Given the description of an element on the screen output the (x, y) to click on. 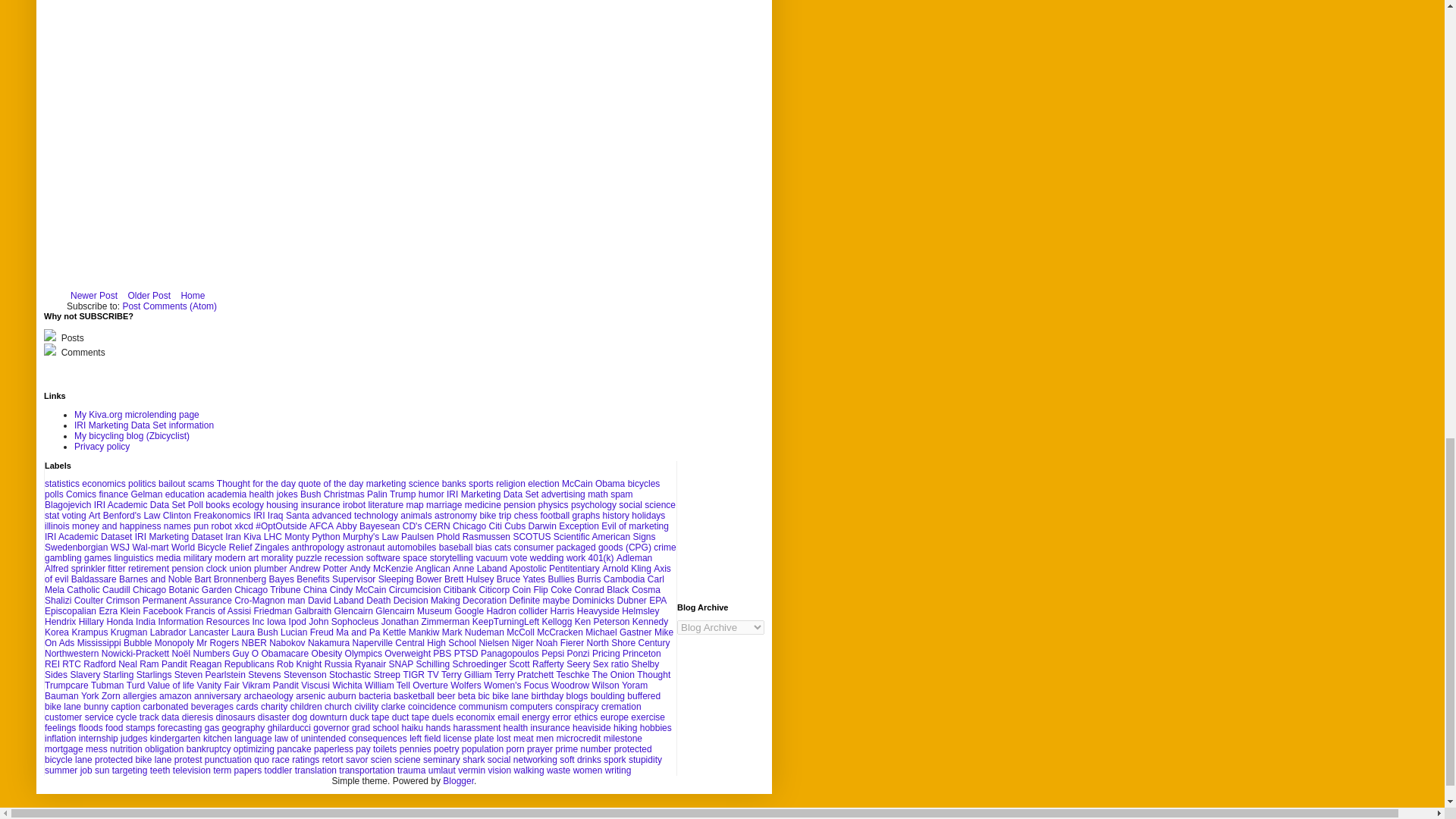
Newer Post (93, 295)
My Kiva.org microlending page (136, 414)
scams (200, 483)
marketing (386, 483)
politics (141, 483)
Newer Post (93, 295)
IRI Marketing Data Set information (144, 425)
economics (103, 483)
Home (192, 295)
banks (453, 483)
Older Post (148, 295)
bailout (171, 483)
quote of the day (330, 483)
Thought for the day (255, 483)
statistics (62, 483)
